Given the description of an element on the screen output the (x, y) to click on. 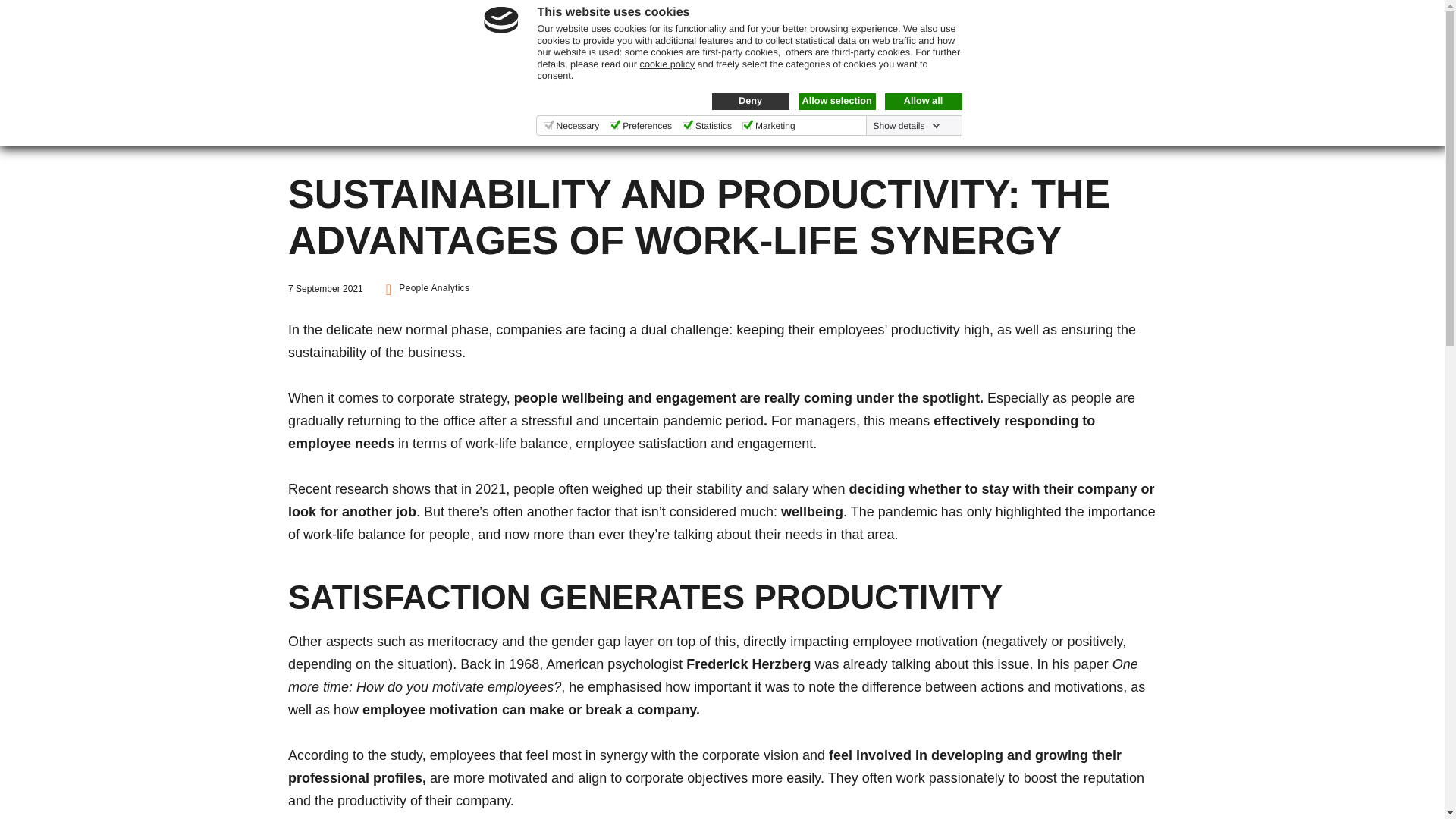
Lifeed Cookie Policy (667, 63)
Deny (750, 101)
Allow all (921, 101)
Allow selection (836, 101)
cookie policy (667, 63)
Show details (905, 125)
